Given the description of an element on the screen output the (x, y) to click on. 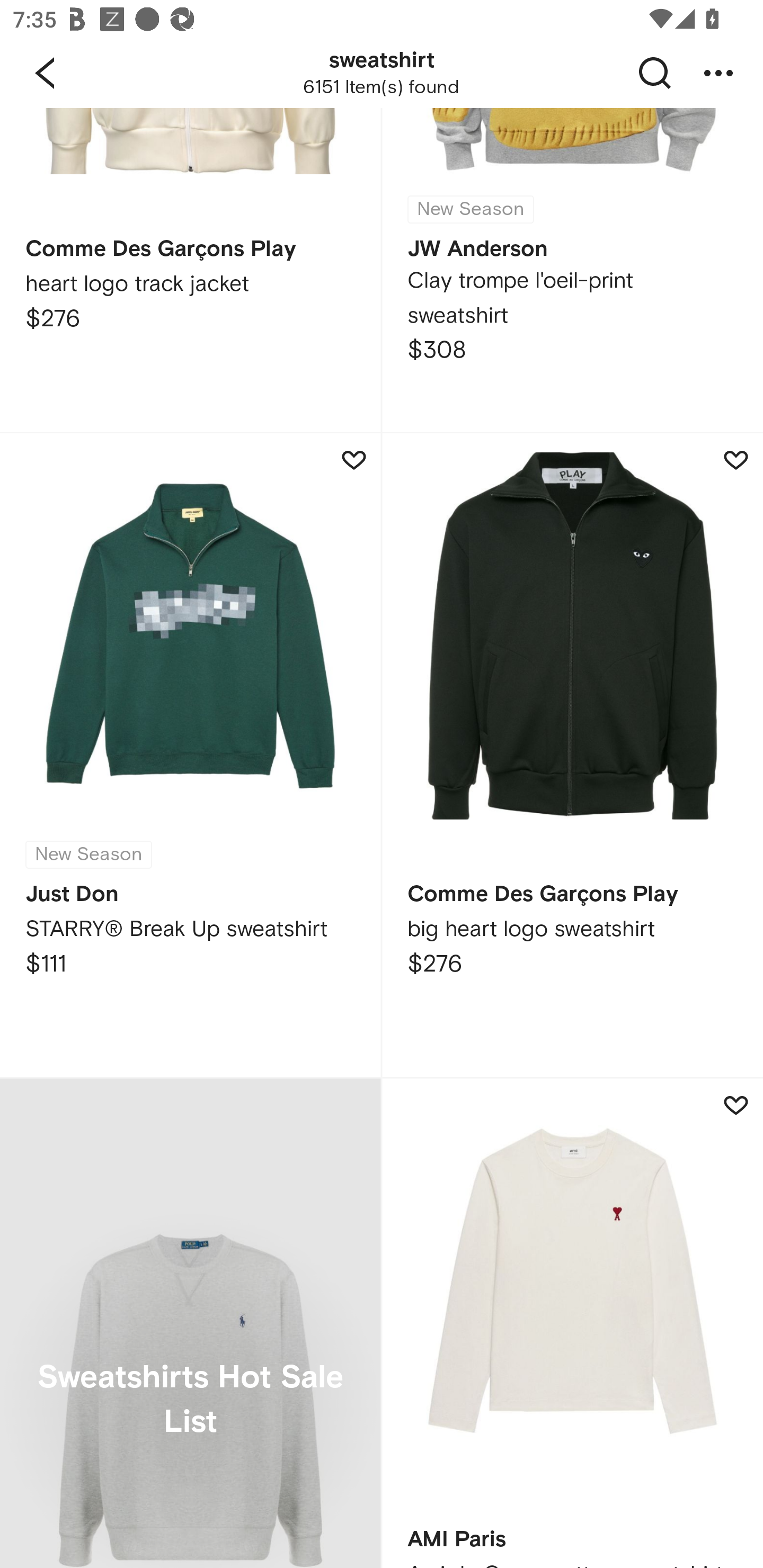
Sweatshirts Hot Sale List (190, 1323)
AMI Paris Ami de Coeur cotton sweatshirt  (572, 1323)
